Given the description of an element on the screen output the (x, y) to click on. 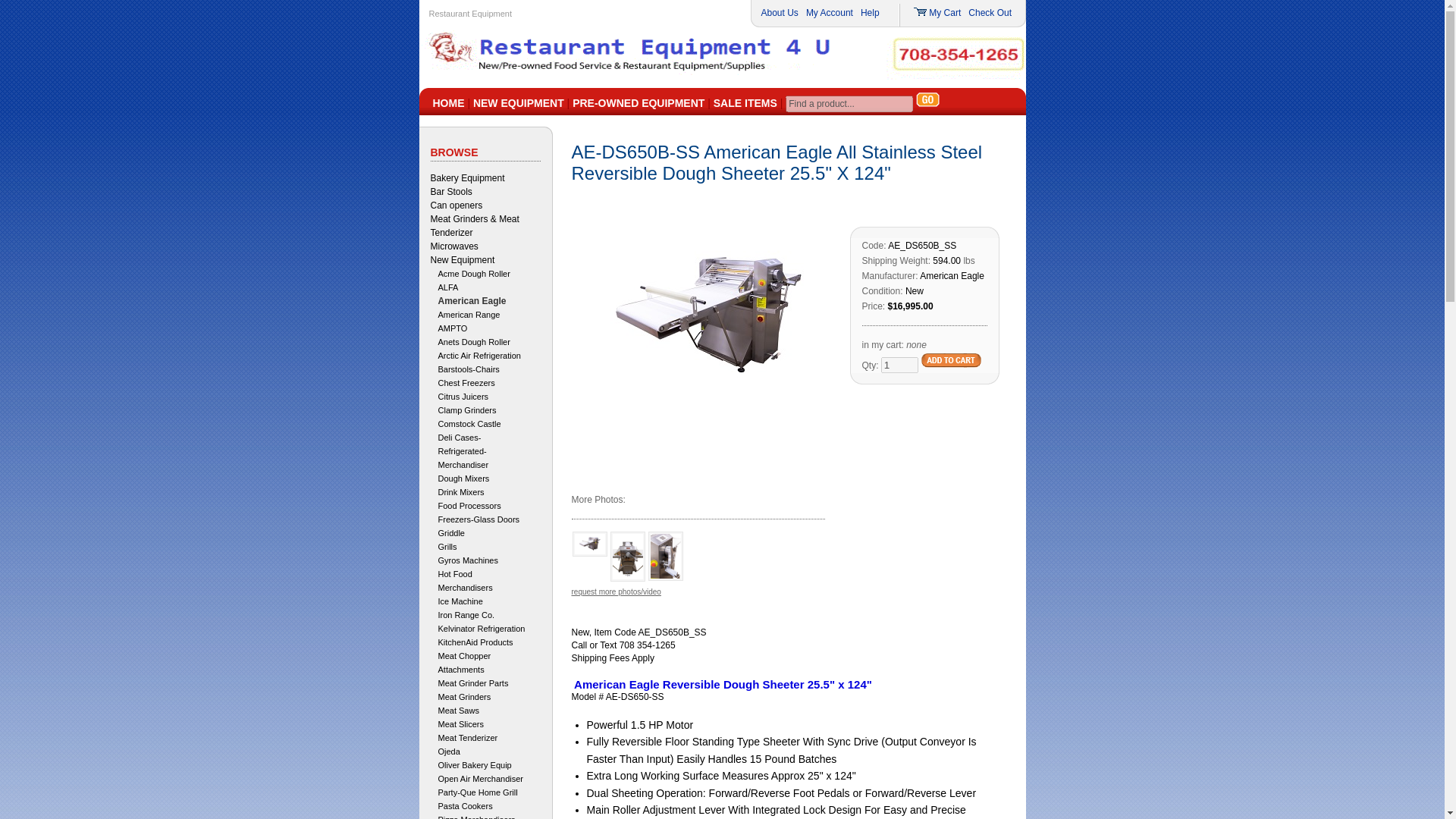
My Cart (944, 12)
Bakery Equipment (467, 177)
Drink Mixers (461, 491)
Check Out (989, 12)
Anets Dough Roller (474, 341)
Comstock Castle (469, 423)
HOME (448, 102)
Find a product... (849, 103)
Grills (447, 546)
Microwaves (454, 245)
